Given the description of an element on the screen output the (x, y) to click on. 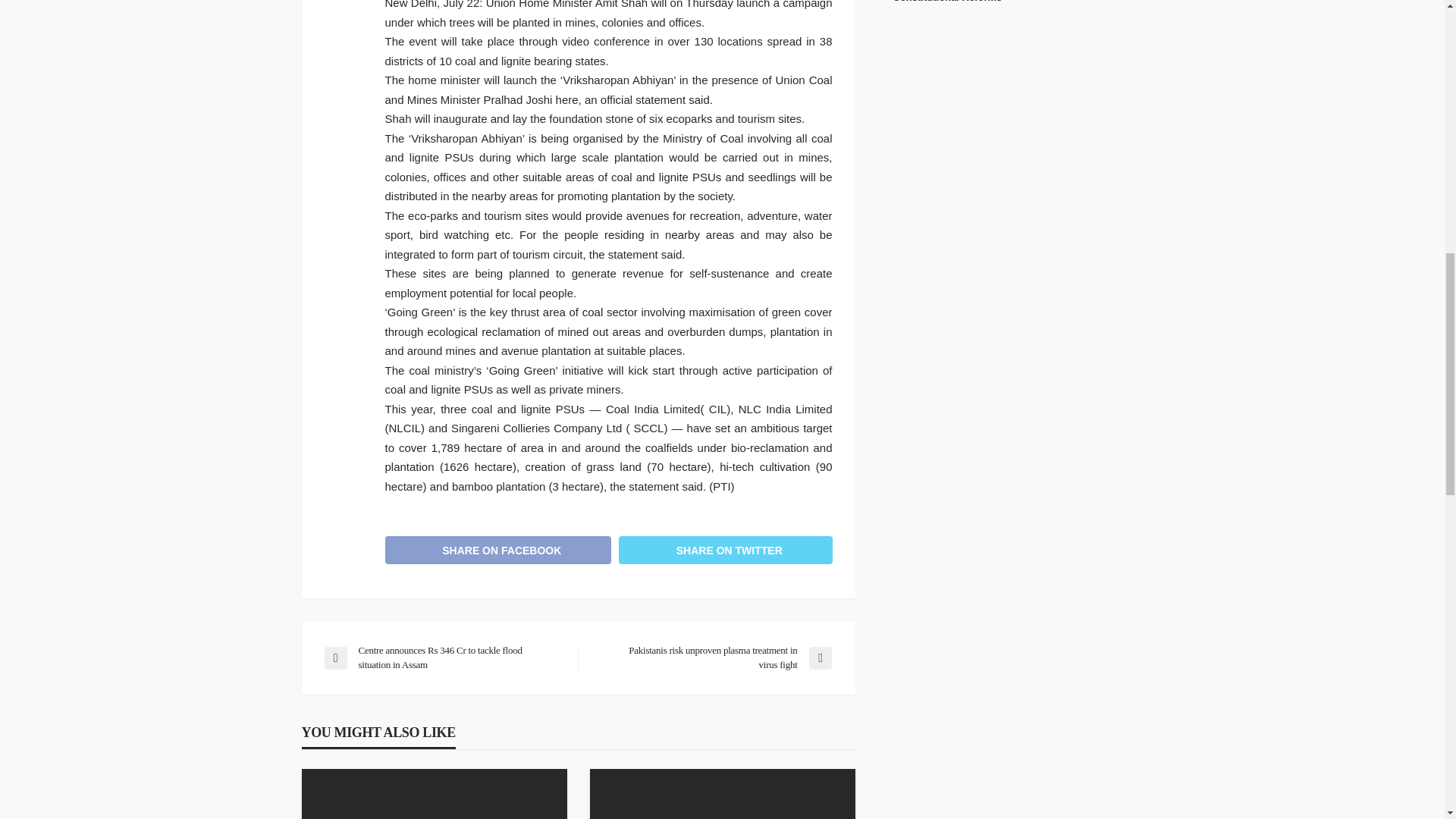
Pakistanis risk unproven plasma treatment in virus fight (711, 656)
